Given the description of an element on the screen output the (x, y) to click on. 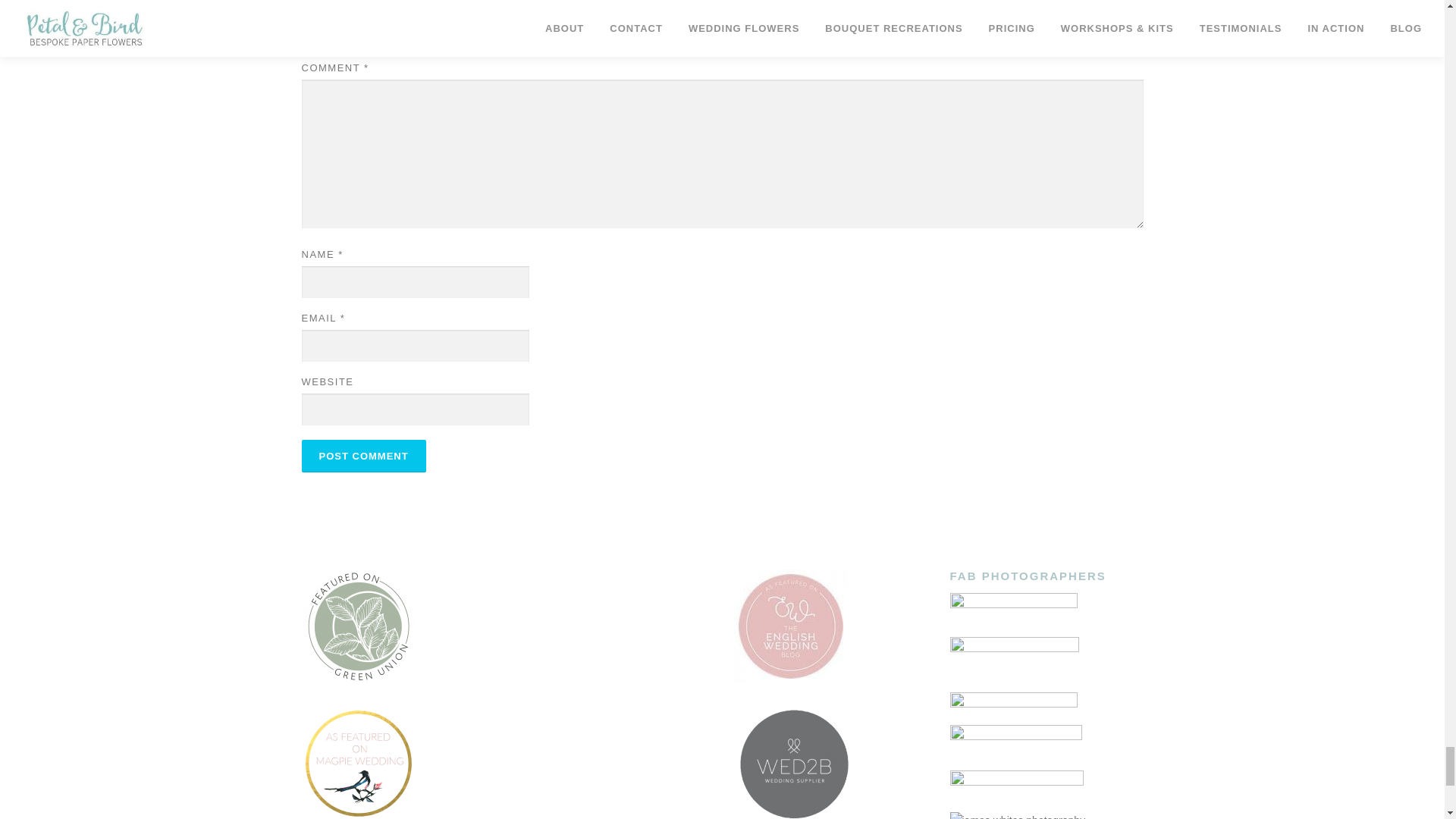
Post Comment (363, 455)
